Given the description of an element on the screen output the (x, y) to click on. 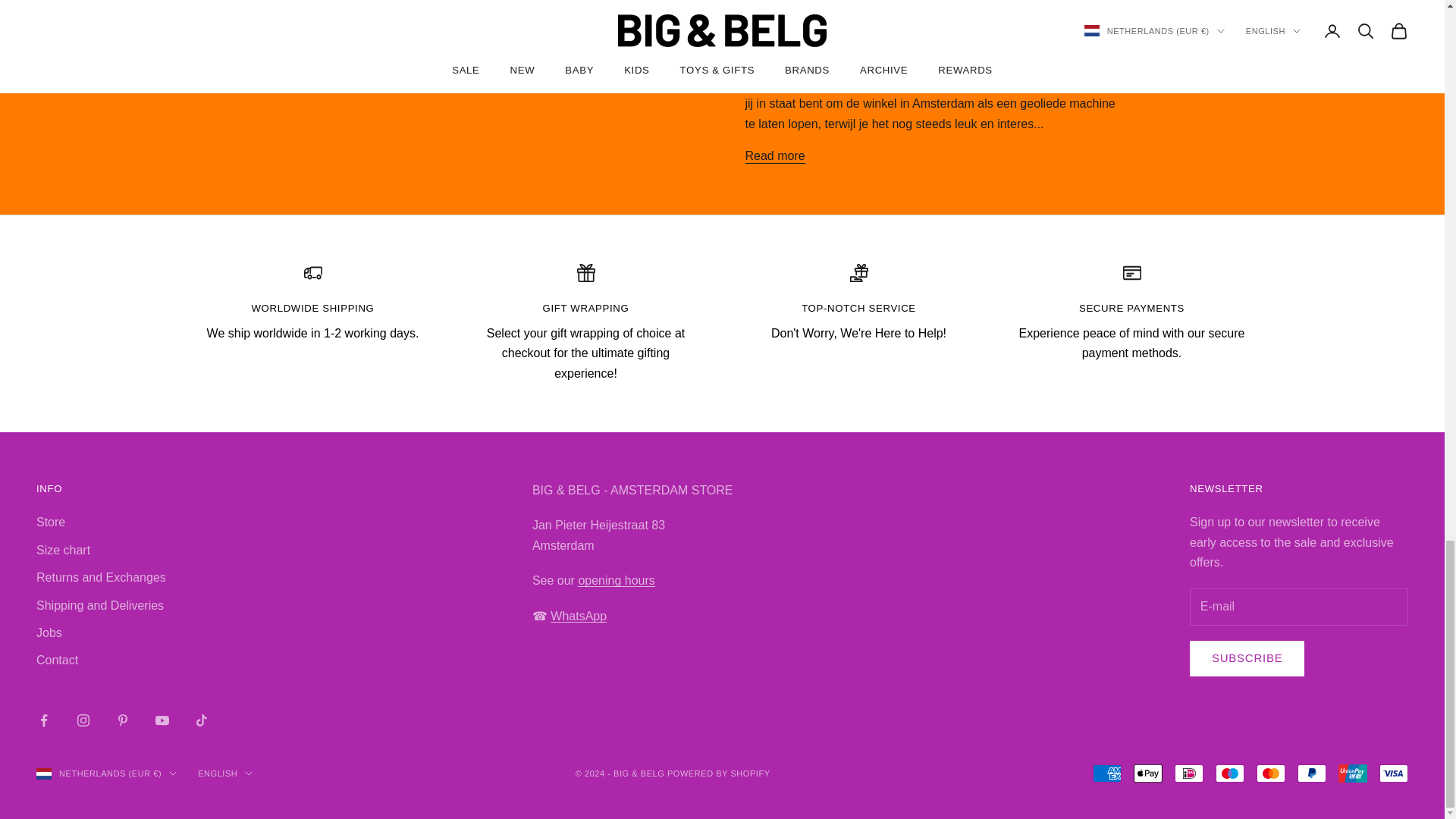
Visit our store! (615, 580)
